Given the description of an element on the screen output the (x, y) to click on. 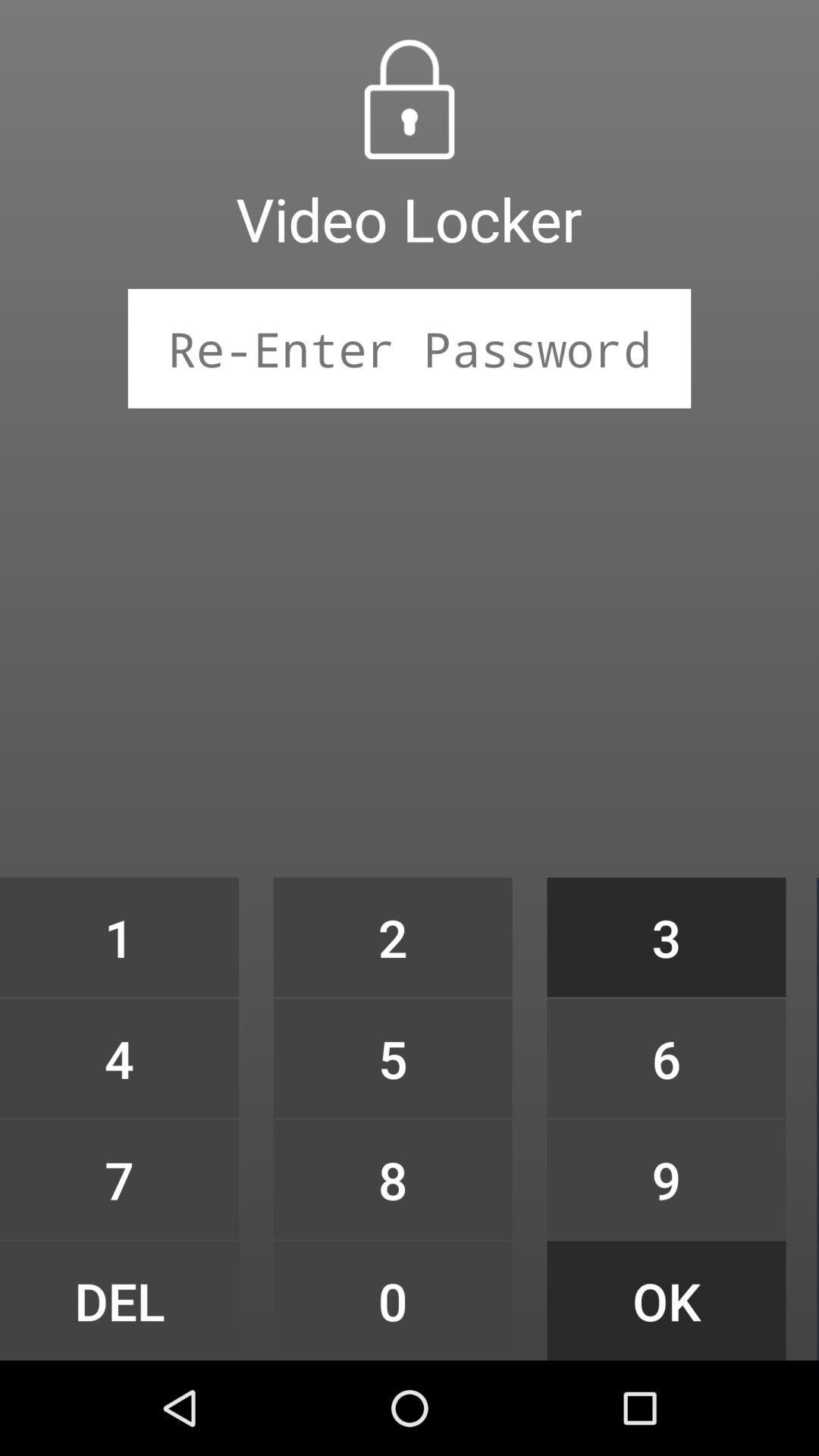
press the item above the 9 item (666, 1058)
